Given the description of an element on the screen output the (x, y) to click on. 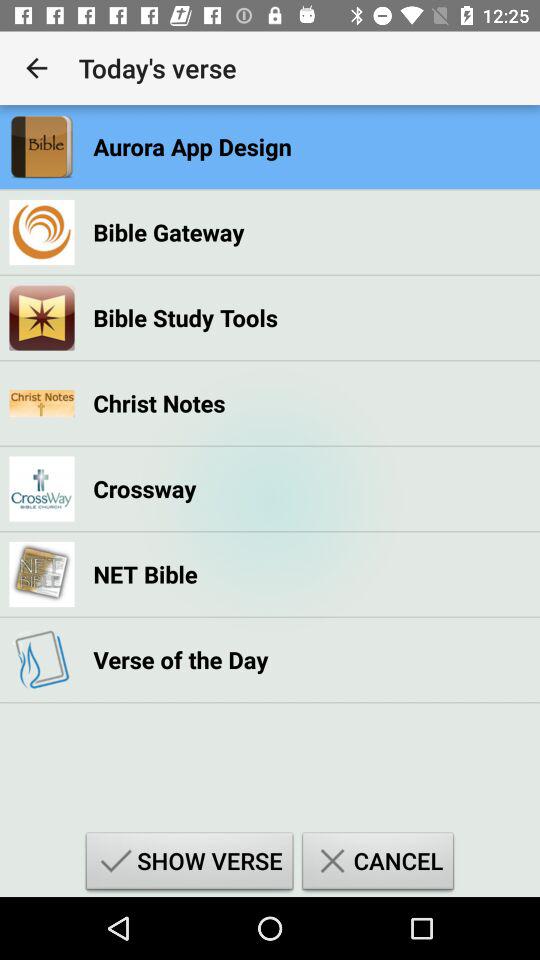
launch verse of the item (180, 659)
